Given the description of an element on the screen output the (x, y) to click on. 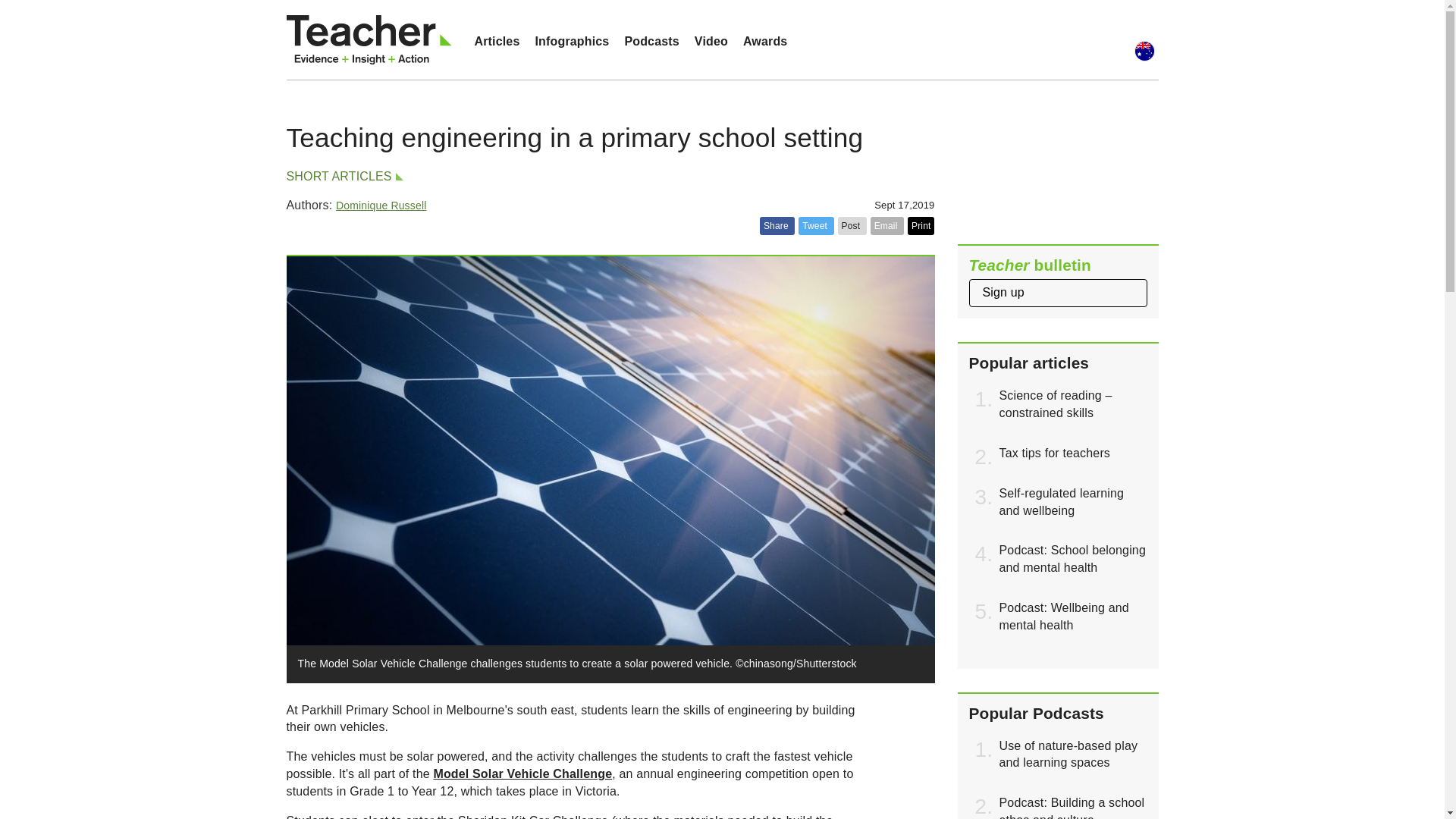
Infographics (571, 41)
Sign up (1058, 293)
Email (887, 226)
Post (852, 226)
Share to facebook (777, 226)
Share (777, 226)
Video (711, 41)
Model Solar Vehicle Challenge (521, 773)
Print (920, 226)
Print (920, 226)
Awards (764, 41)
Short articles (342, 175)
Share to twitter (814, 226)
Articles (497, 41)
SHORT ARTICLES (342, 175)
